Given the description of an element on the screen output the (x, y) to click on. 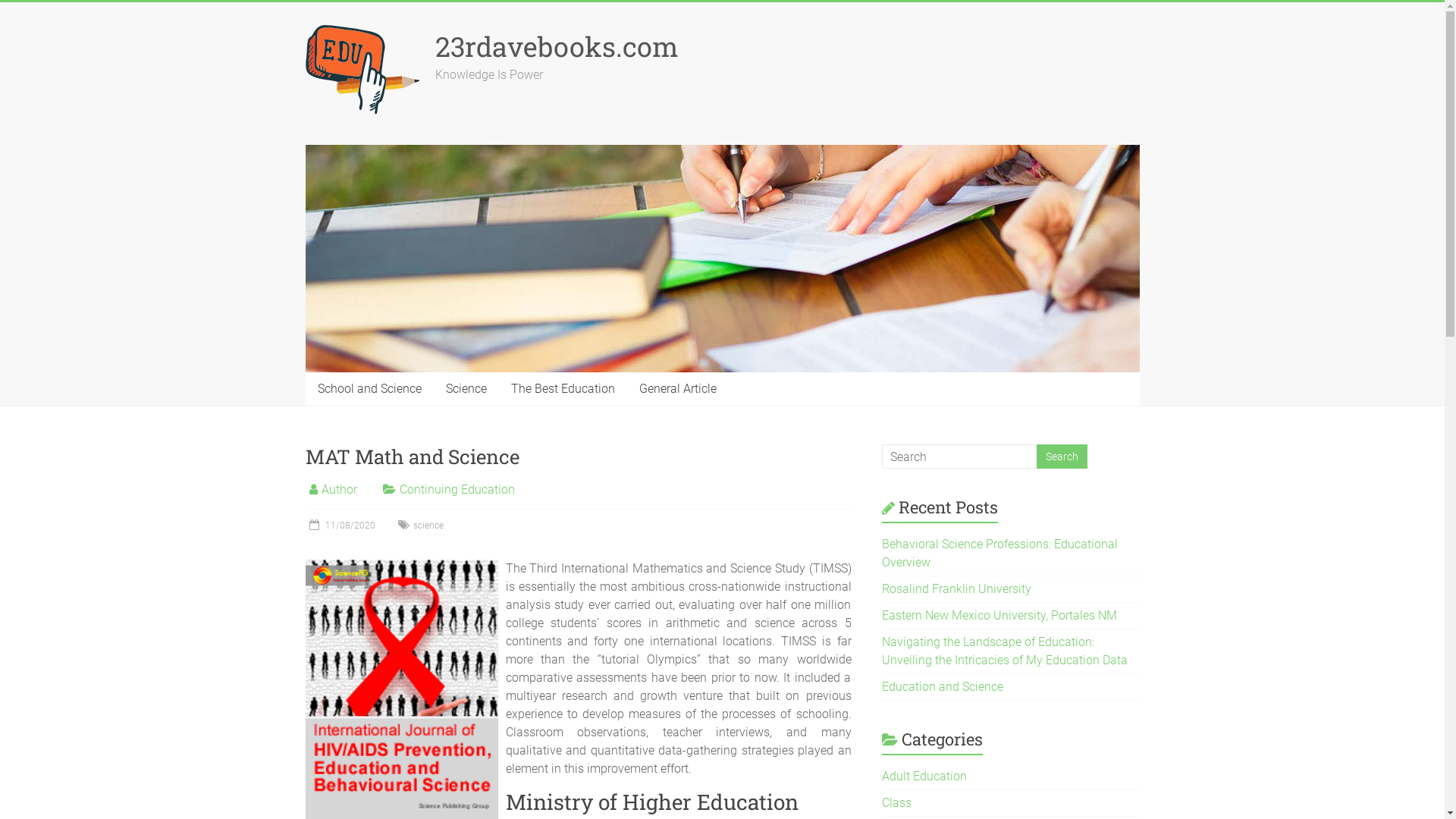
science Element type: text (427, 525)
Eastern New Mexico University, Portales NM Element type: text (999, 615)
General Article Element type: text (677, 388)
Search Element type: text (1060, 456)
School and Science Element type: text (368, 388)
Science Element type: text (465, 388)
Author Element type: text (339, 489)
11/08/2020 Element type: text (339, 525)
The Best Education Element type: text (562, 388)
Behavioral Science Professions: Educational Overview Element type: text (999, 552)
Rosalind Franklin University Element type: text (956, 588)
Adult Education Element type: text (923, 775)
23rdavebooks.com Element type: text (556, 46)
Class Element type: text (896, 802)
Continuing Education Element type: text (456, 489)
Education and Science Element type: text (942, 686)
